Given the description of an element on the screen output the (x, y) to click on. 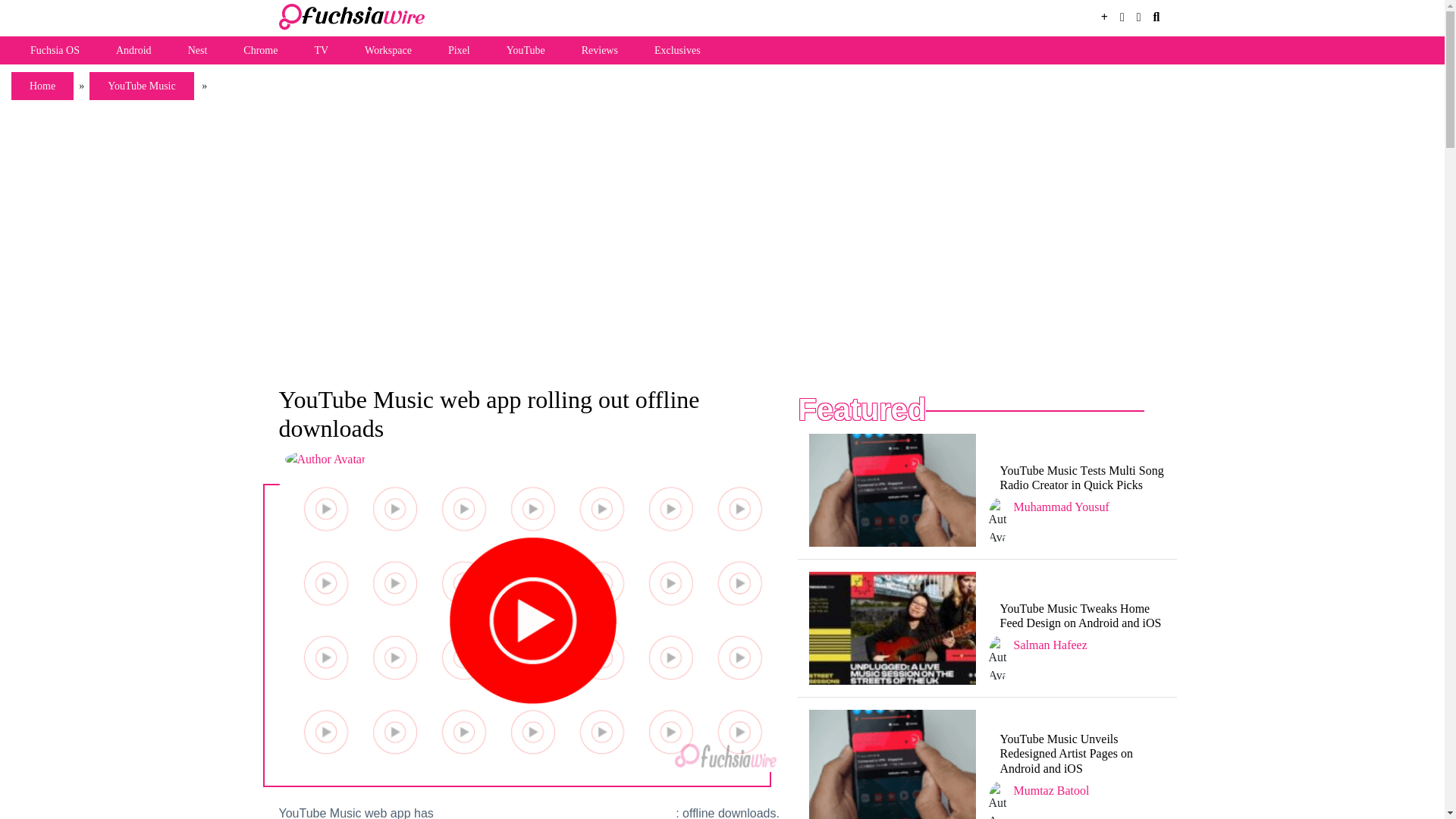
Fuchsia OS (54, 50)
Chrome (260, 50)
Android (133, 50)
Nest (197, 50)
TV (320, 50)
Workspace (387, 50)
